Given the description of an element on the screen output the (x, y) to click on. 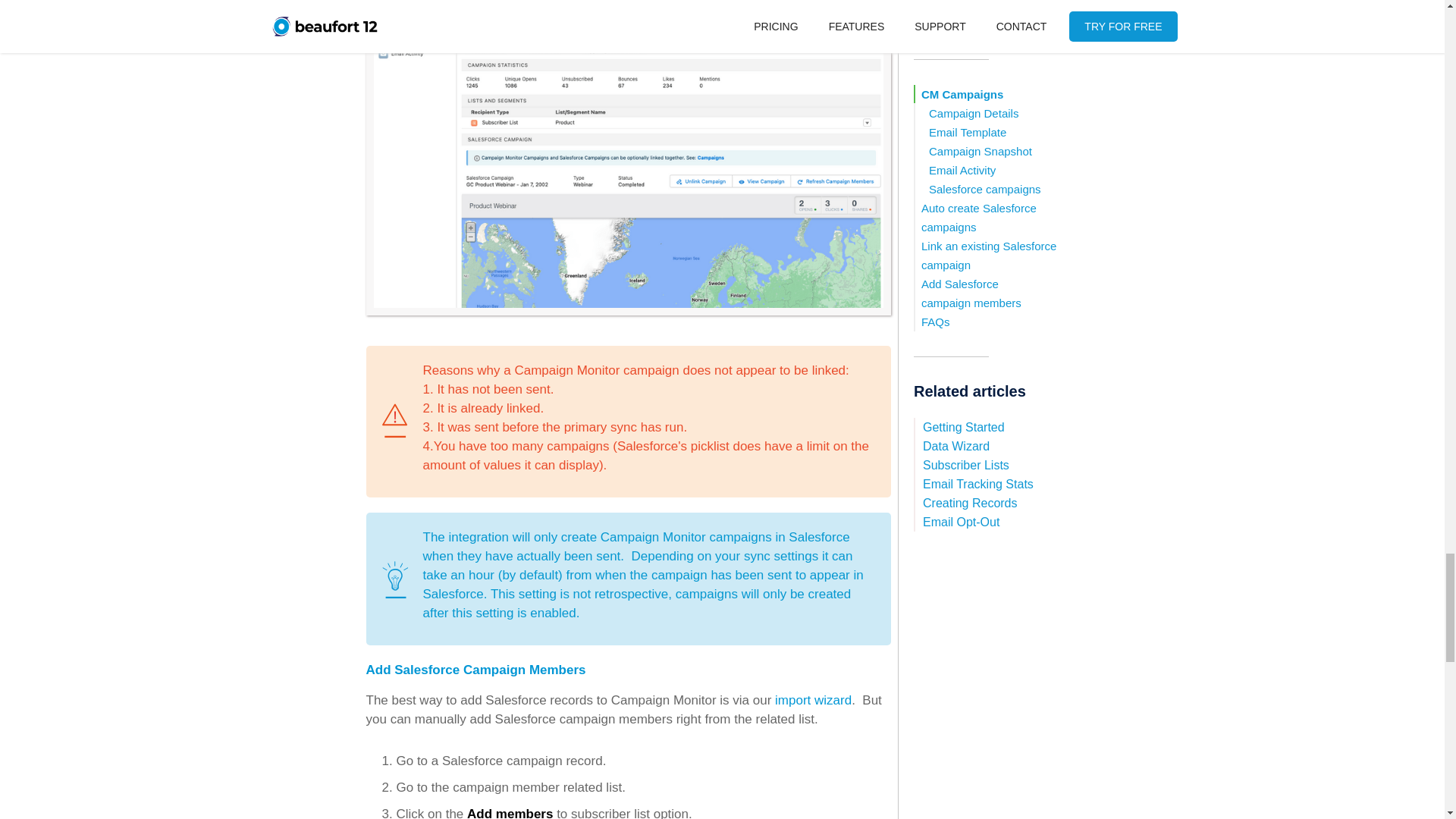
import wizard (812, 699)
